Given the description of an element on the screen output the (x, y) to click on. 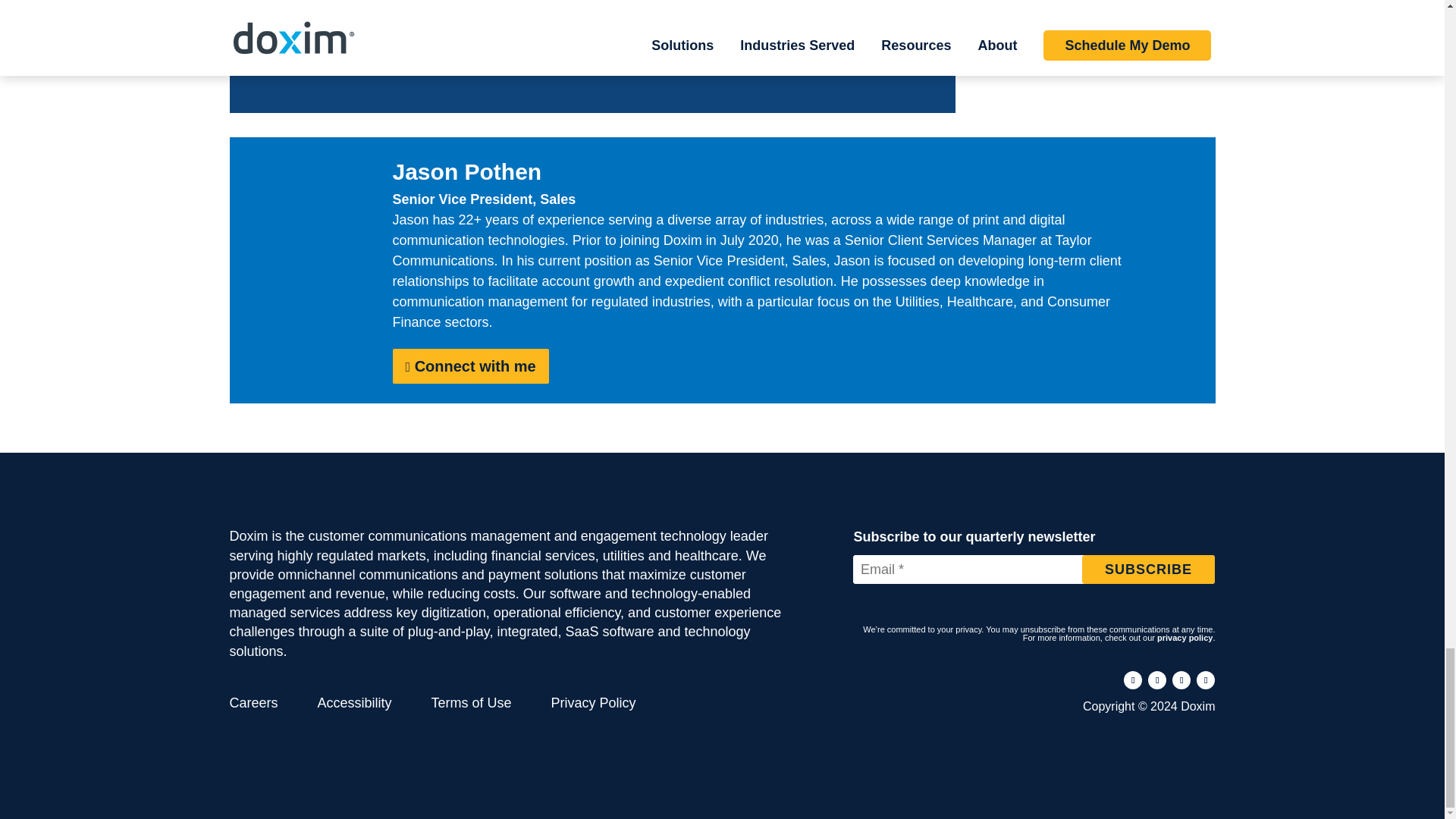
Follow on Youtube (1205, 679)
Follow on LinkedIn (1157, 679)
Follow on Facebook (1132, 679)
Follow on X (1181, 679)
